Given the description of an element on the screen output the (x, y) to click on. 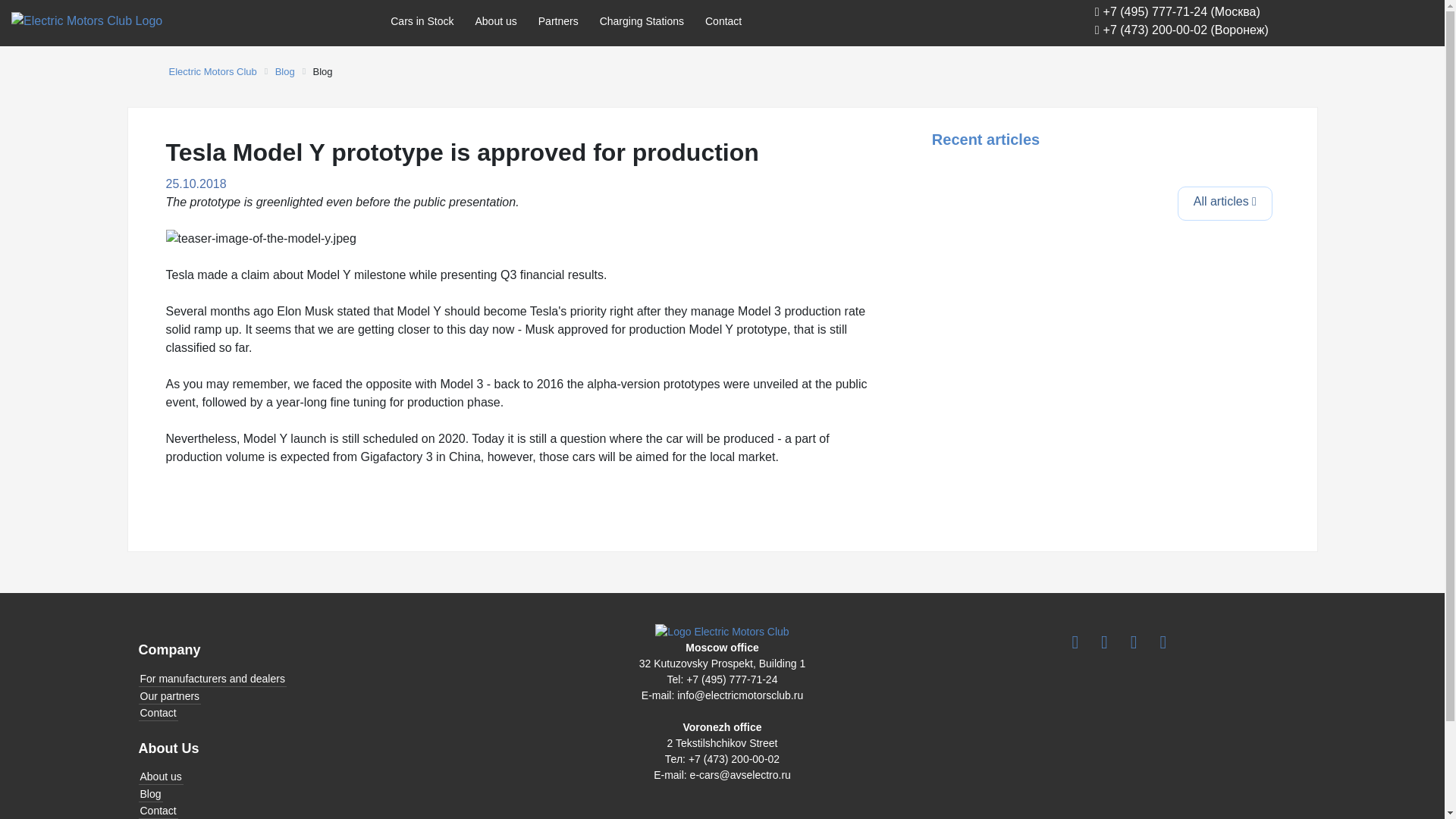
Blog (325, 794)
Contact (325, 712)
About us (495, 21)
Electric Motors Club (212, 70)
Blog (285, 70)
Electric Motors Club (212, 70)
Blog (285, 70)
Contact (325, 810)
For manufacturers and dealers (325, 678)
Our partners (325, 696)
